Given the description of an element on the screen output the (x, y) to click on. 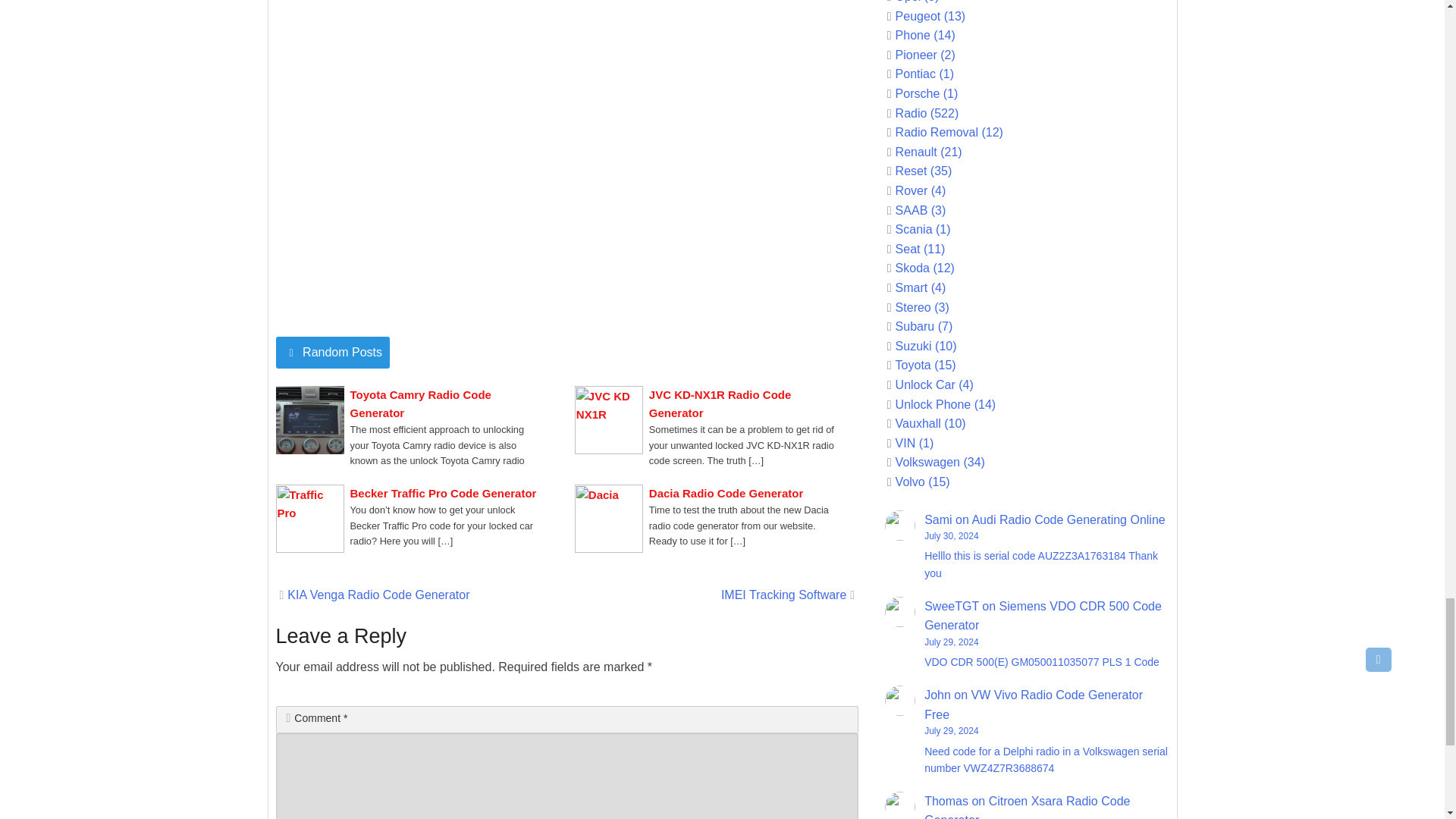
Toyota Camry Radio Code Generator (443, 403)
JVC KD-NX1R Radio Code Generator (742, 403)
